Given the description of an element on the screen output the (x, y) to click on. 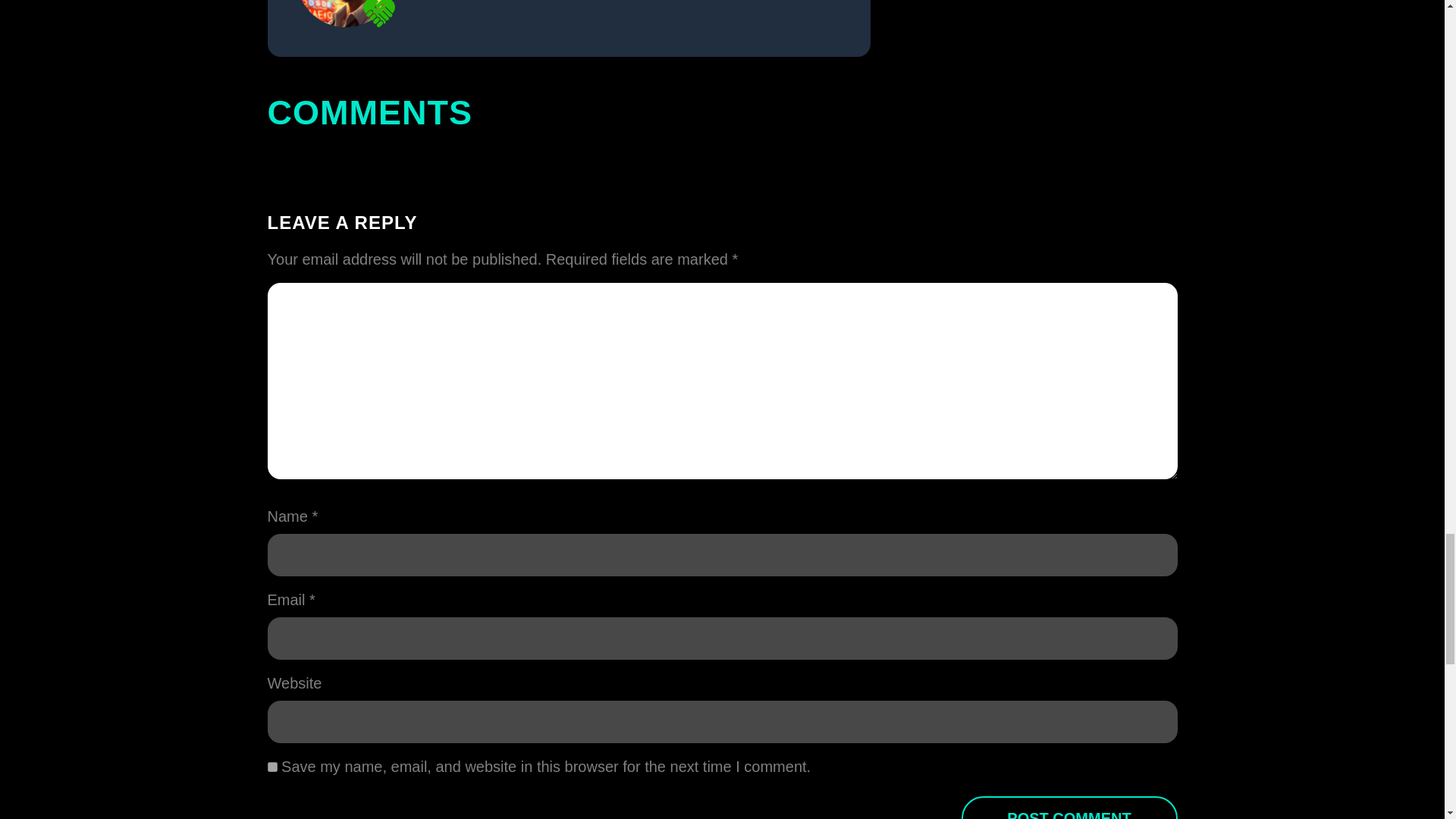
Post Comment (1068, 807)
Post Comment (1068, 807)
yes (271, 767)
